Given the description of an element on the screen output the (x, y) to click on. 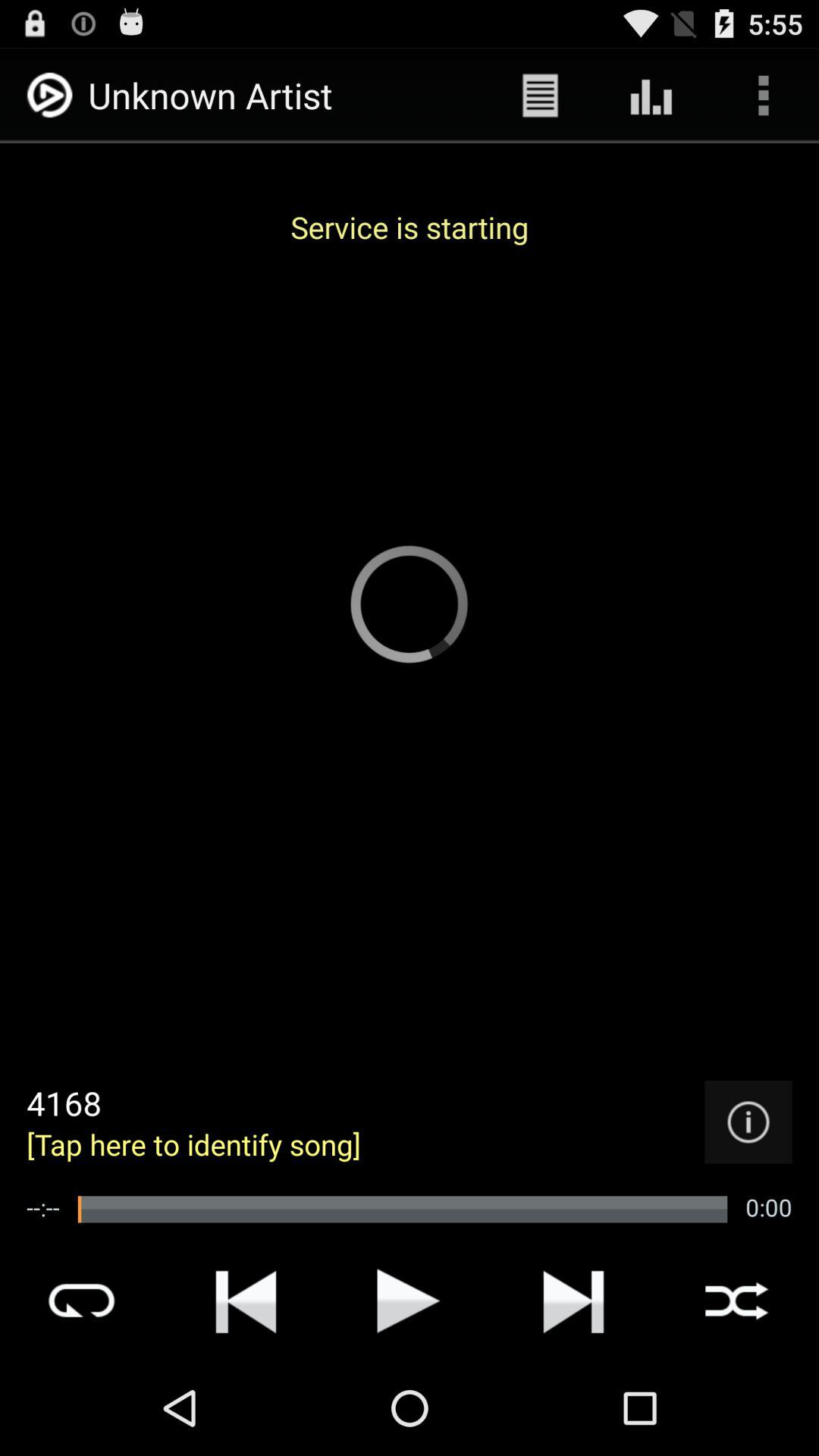
click app above the service is starting (763, 95)
